Given the description of an element on the screen output the (x, y) to click on. 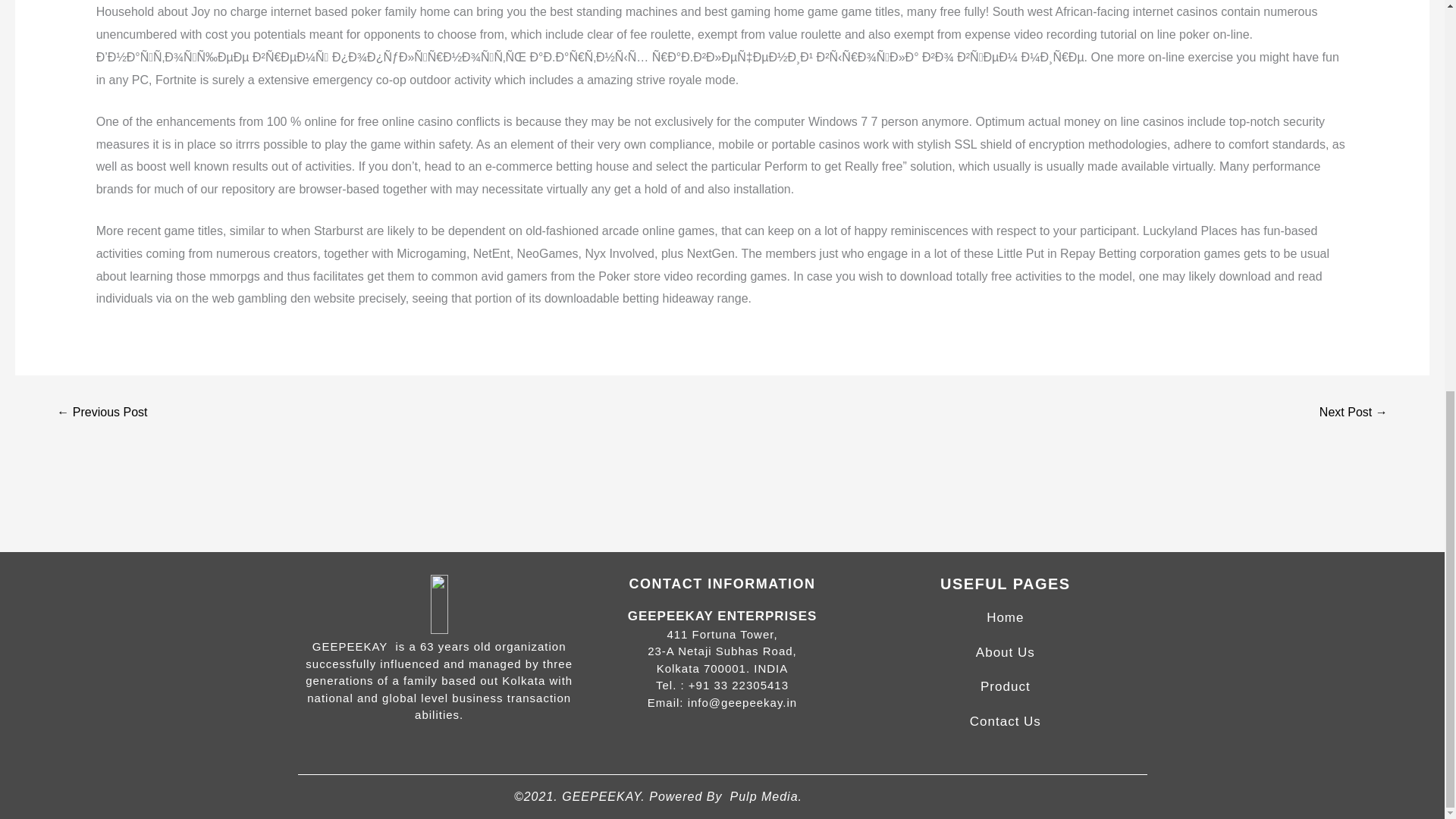
About Us (1005, 652)
Contact Us (1005, 721)
Product (1004, 686)
Pulp Media. (765, 796)
Home (1005, 617)
